Given the description of an element on the screen output the (x, y) to click on. 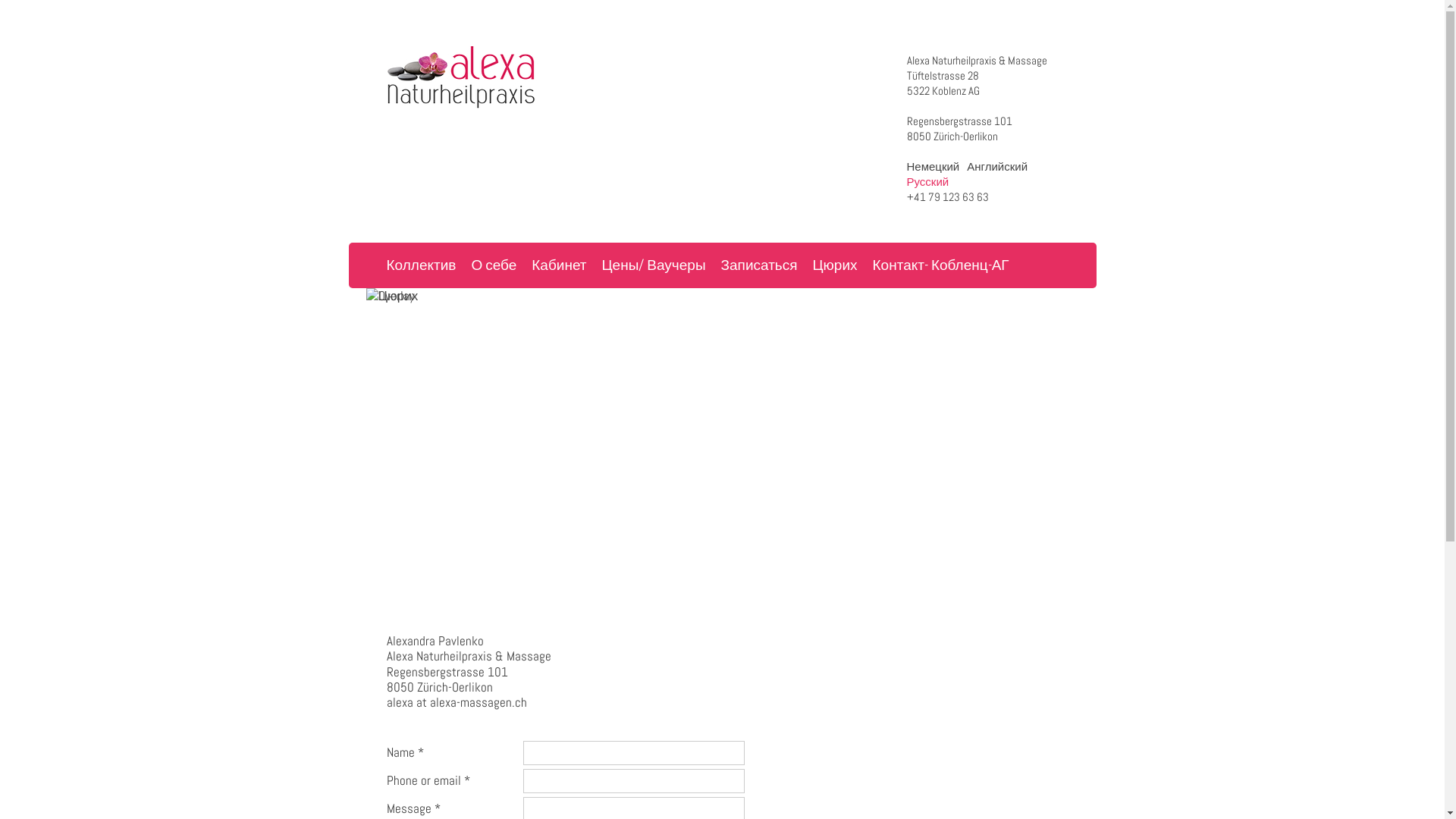
alexa Gesundheitsmassagen Element type: text (470, 76)
